Given the description of an element on the screen output the (x, y) to click on. 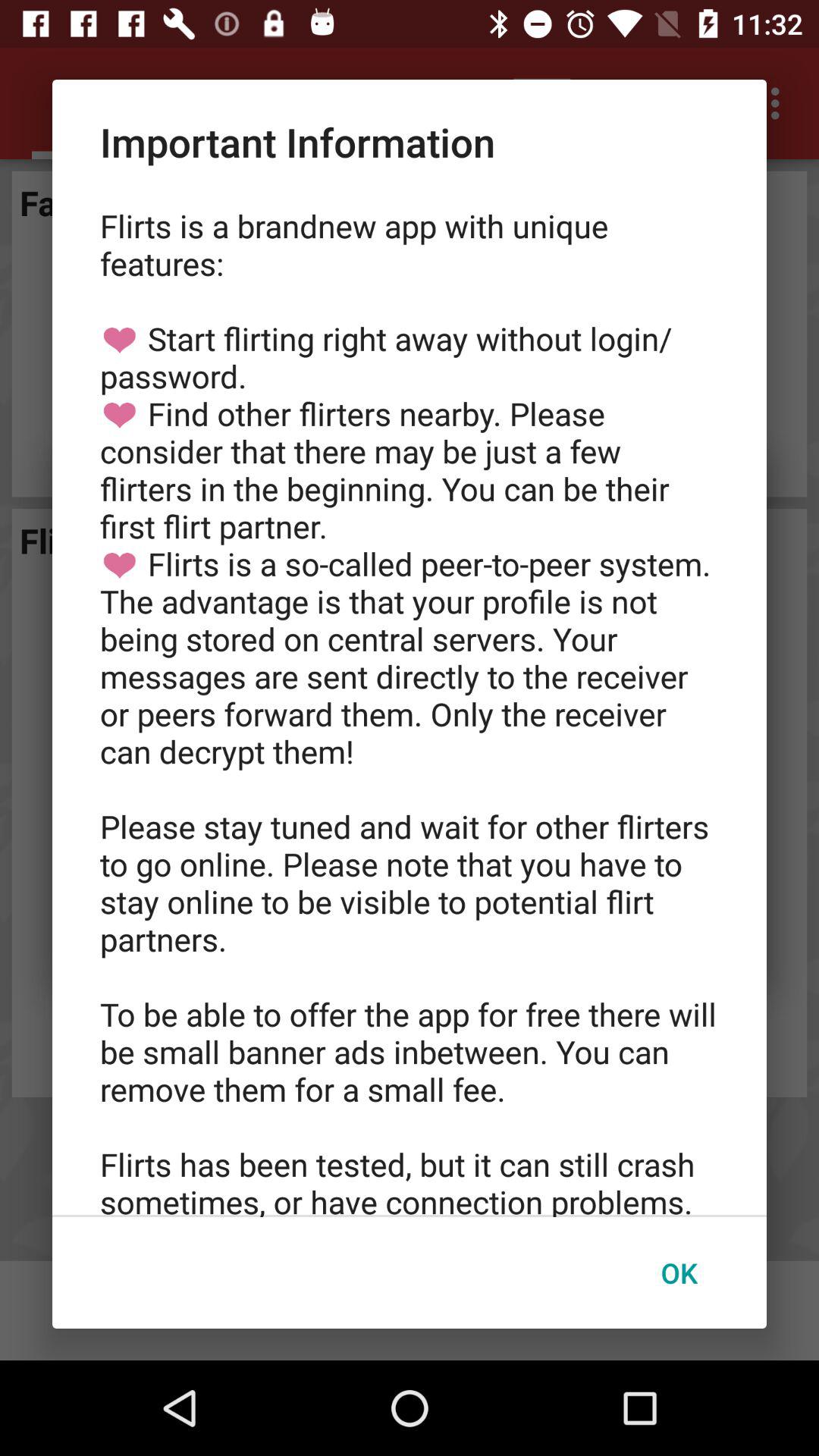
swipe to ok (678, 1272)
